Given the description of an element on the screen output the (x, y) to click on. 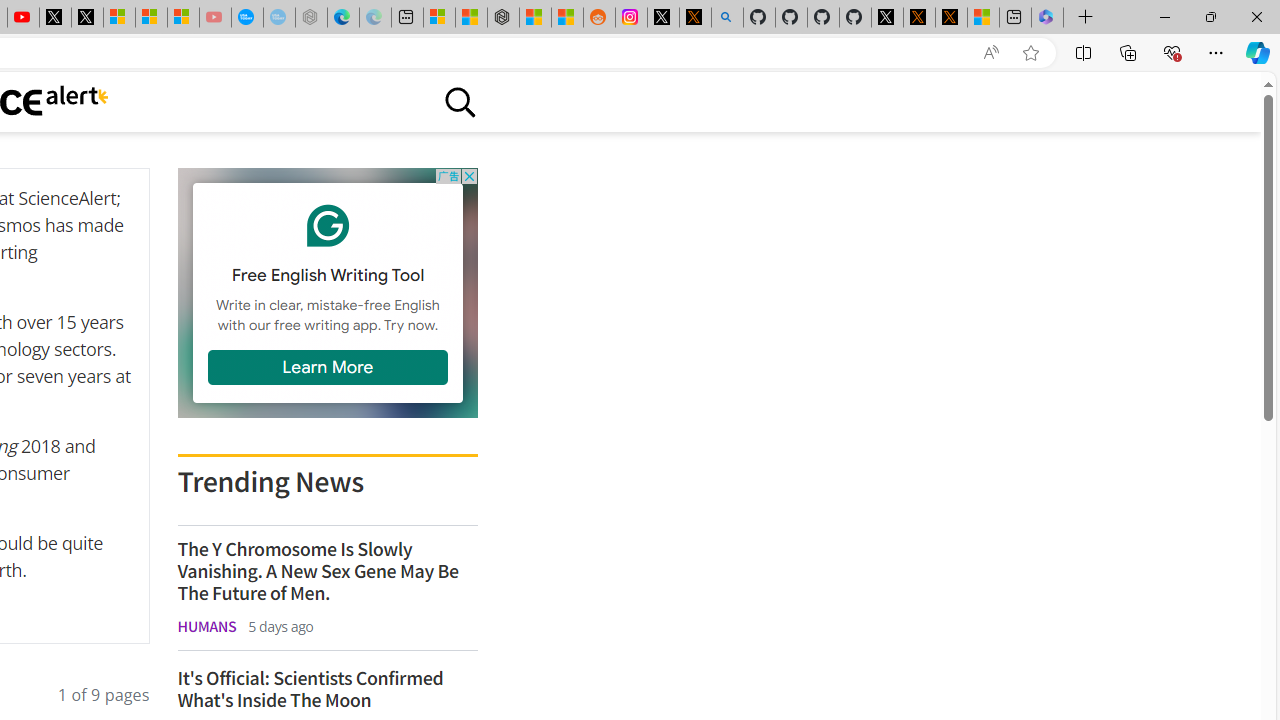
Profile / X (886, 17)
Login | Microsoft 365 (1047, 17)
Nordace - Nordace has arrived Hong Kong - Sleeping (310, 17)
HUMANS (206, 625)
Class: sciencealert-search-desktop-svg  (459, 102)
